Given the description of an element on the screen output the (x, y) to click on. 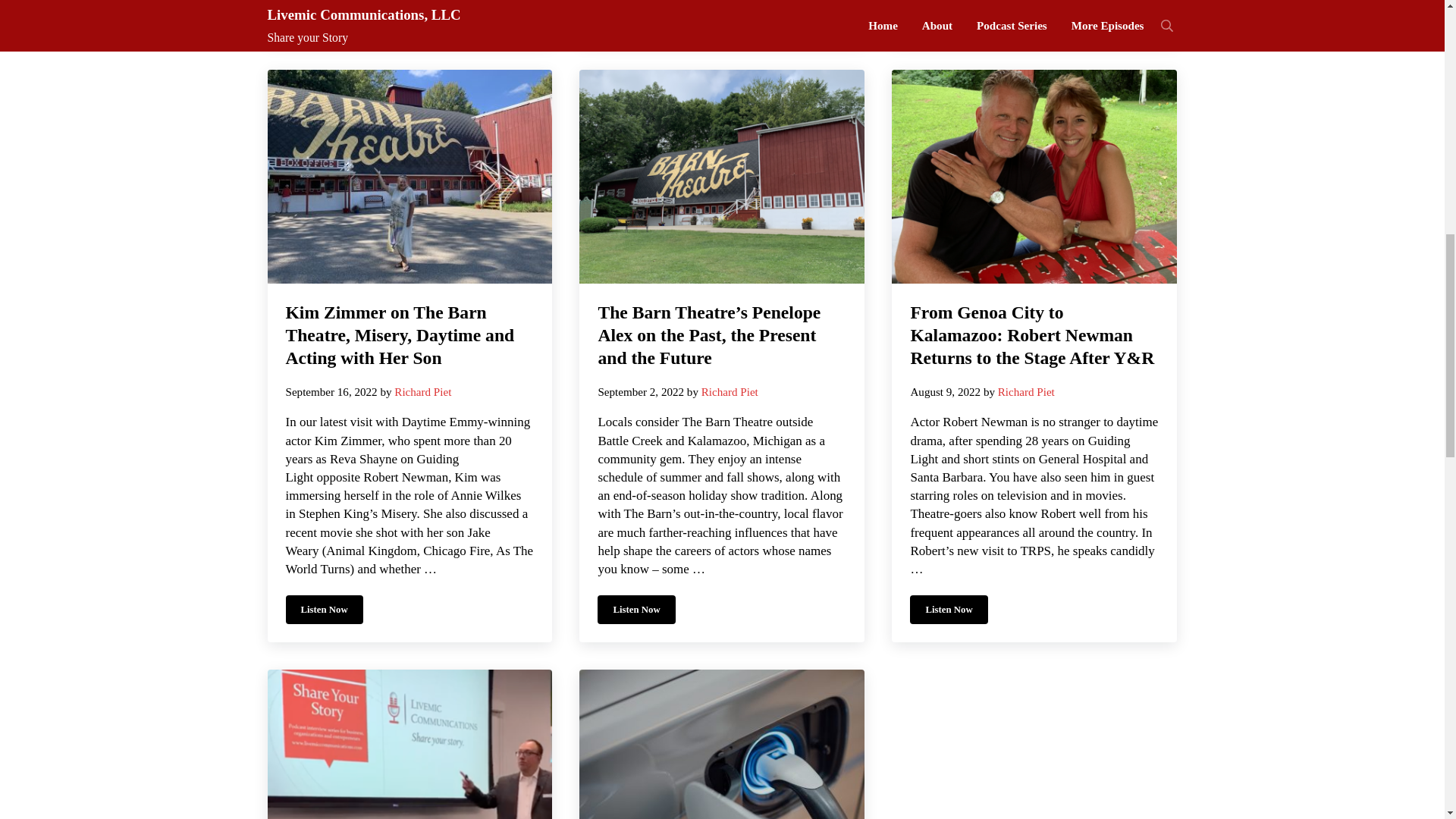
Richard Piet (1025, 391)
Richard Piet (422, 391)
Richard Piet (729, 391)
